Given the description of an element on the screen output the (x, y) to click on. 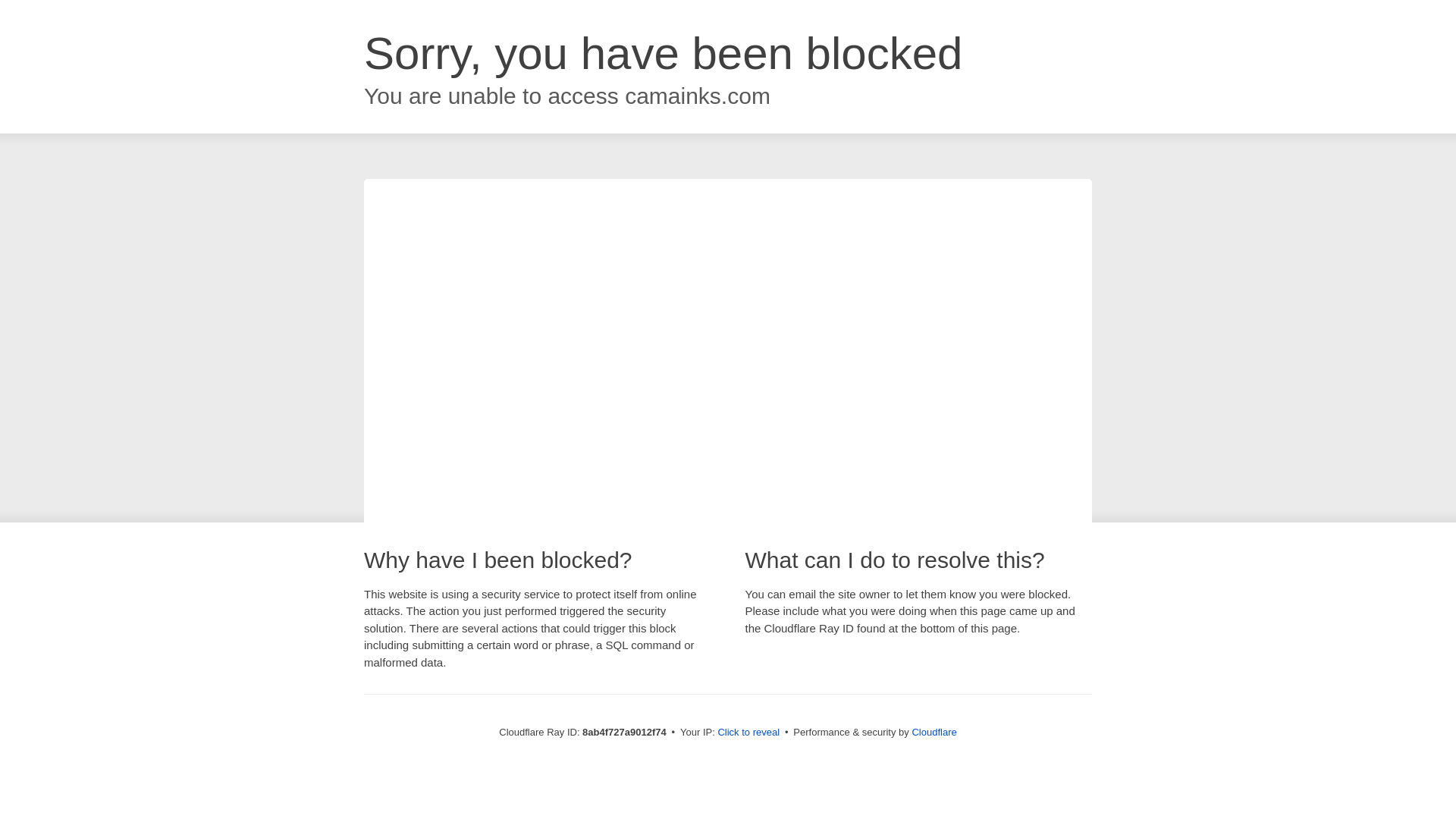
Click to reveal (747, 732)
Cloudflare (933, 731)
